Given the description of an element on the screen output the (x, y) to click on. 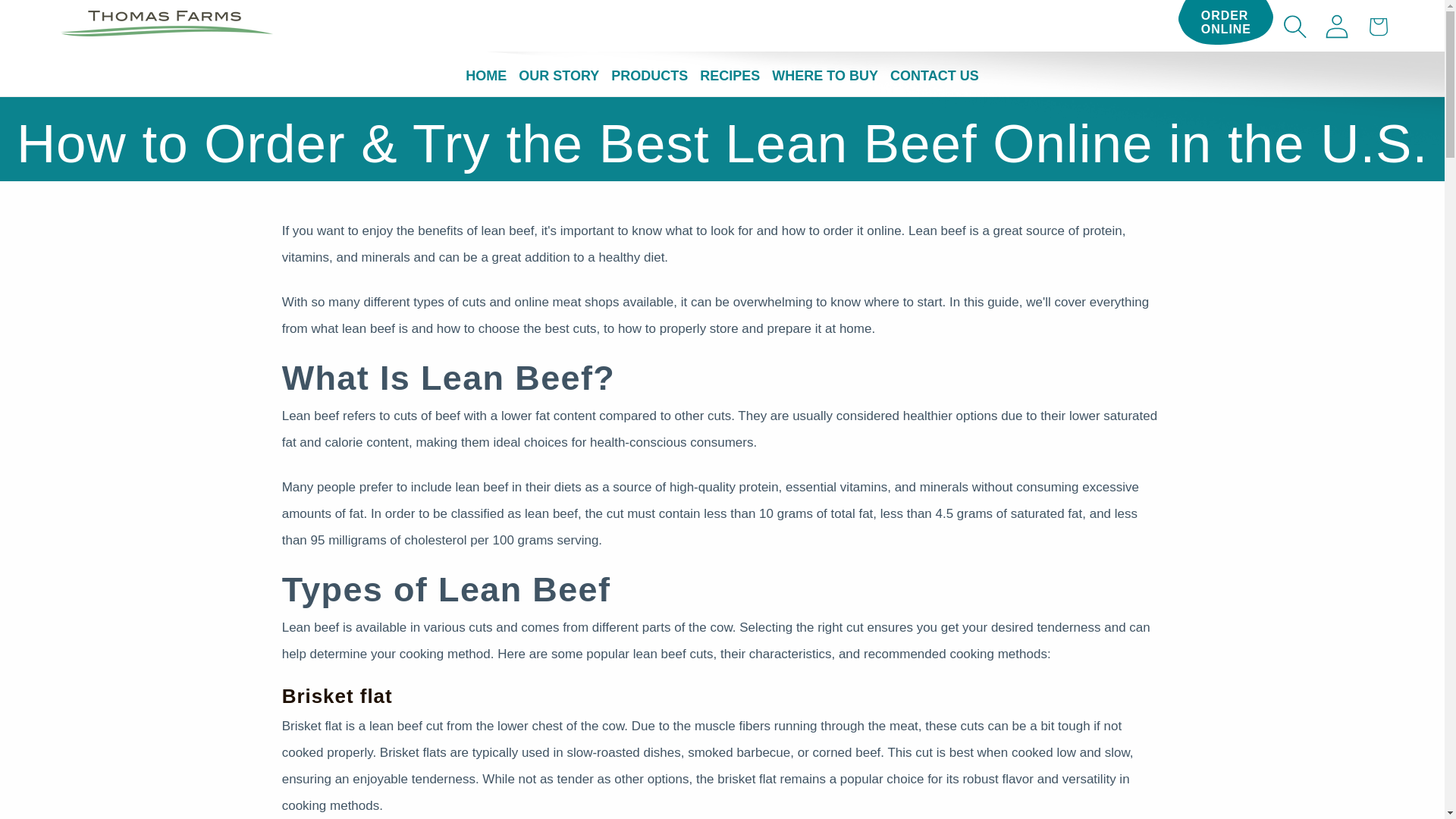
WHERE TO BUY (1226, 22)
OUR STORY (824, 76)
SKIP TO CONTENT (558, 76)
HOME (73, 6)
RECIPES (486, 76)
